Given the description of an element on the screen output the (x, y) to click on. 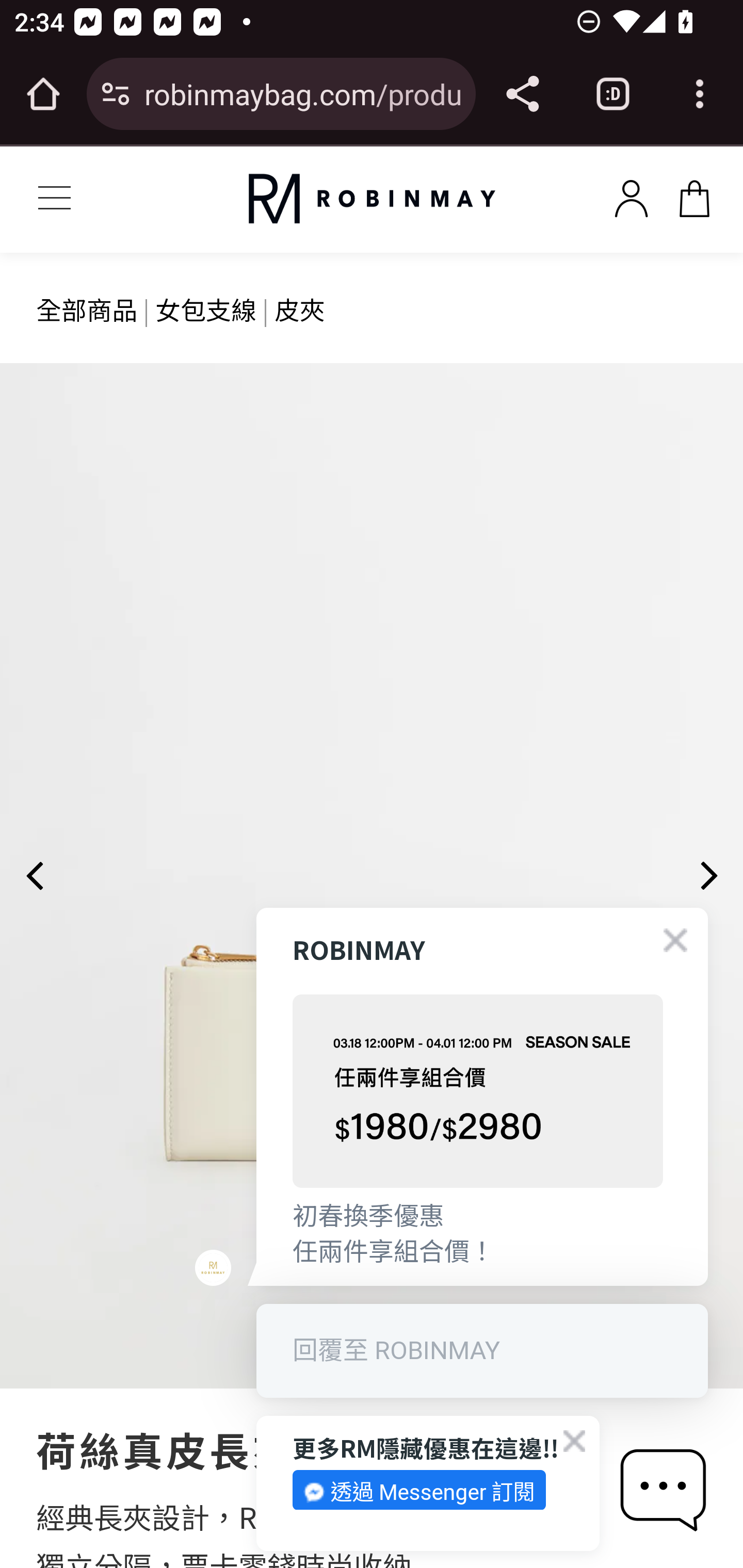
Open the home page (43, 93)
Connection is secure (115, 93)
Share (522, 93)
Switch or close tabs (612, 93)
Customize and control Google Chrome (699, 93)
original (371, 199)
x100 (631, 195)
x100 (694, 195)
全部商品 (86, 308)
女包支線 (205, 308)
皮夾 (300, 308)
透過 Messenger 訂閱 (419, 1489)
